Given the description of an element on the screen output the (x, y) to click on. 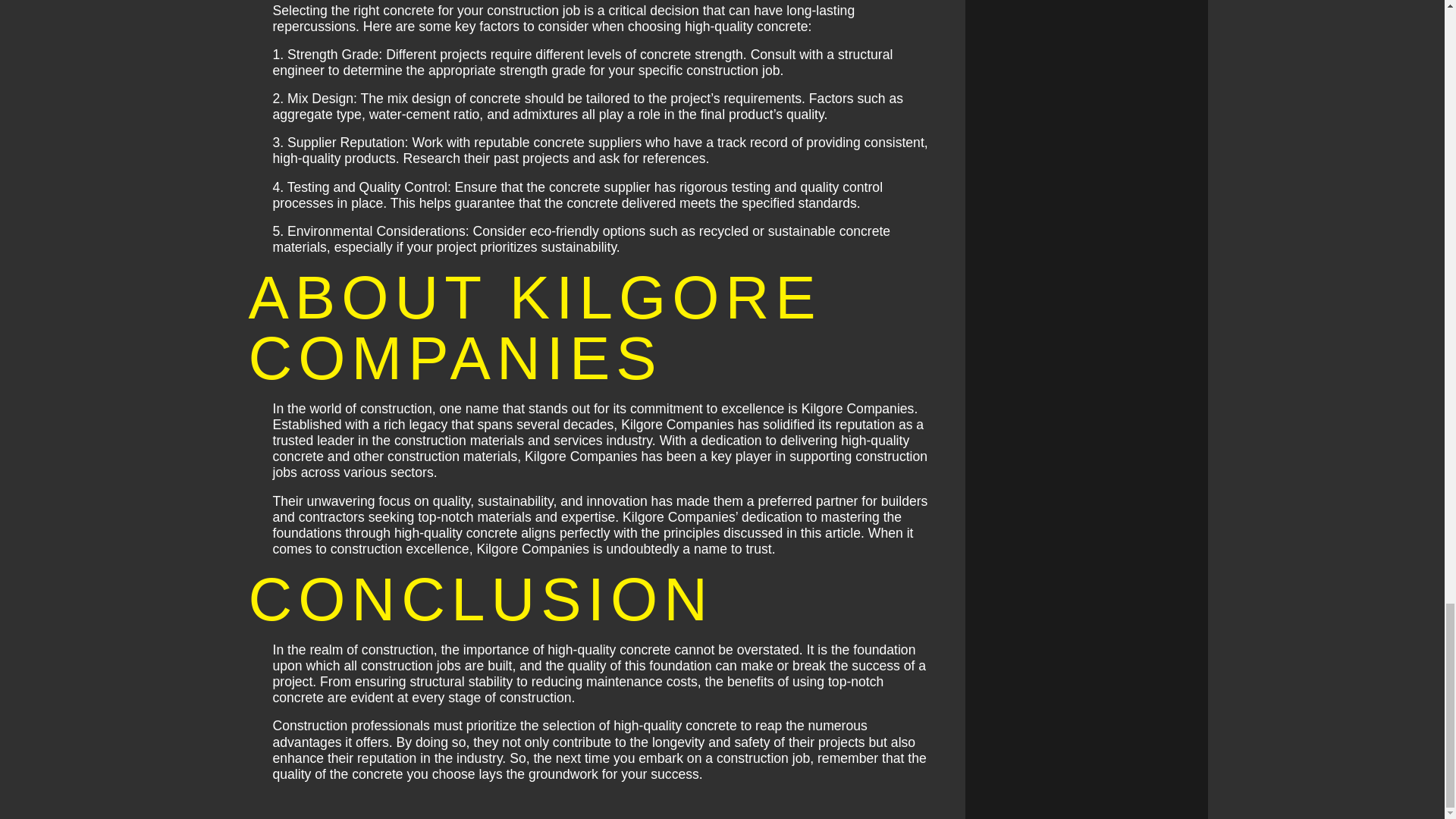
Kilgore Companies (858, 408)
construction jobs (411, 665)
